Given the description of an element on the screen output the (x, y) to click on. 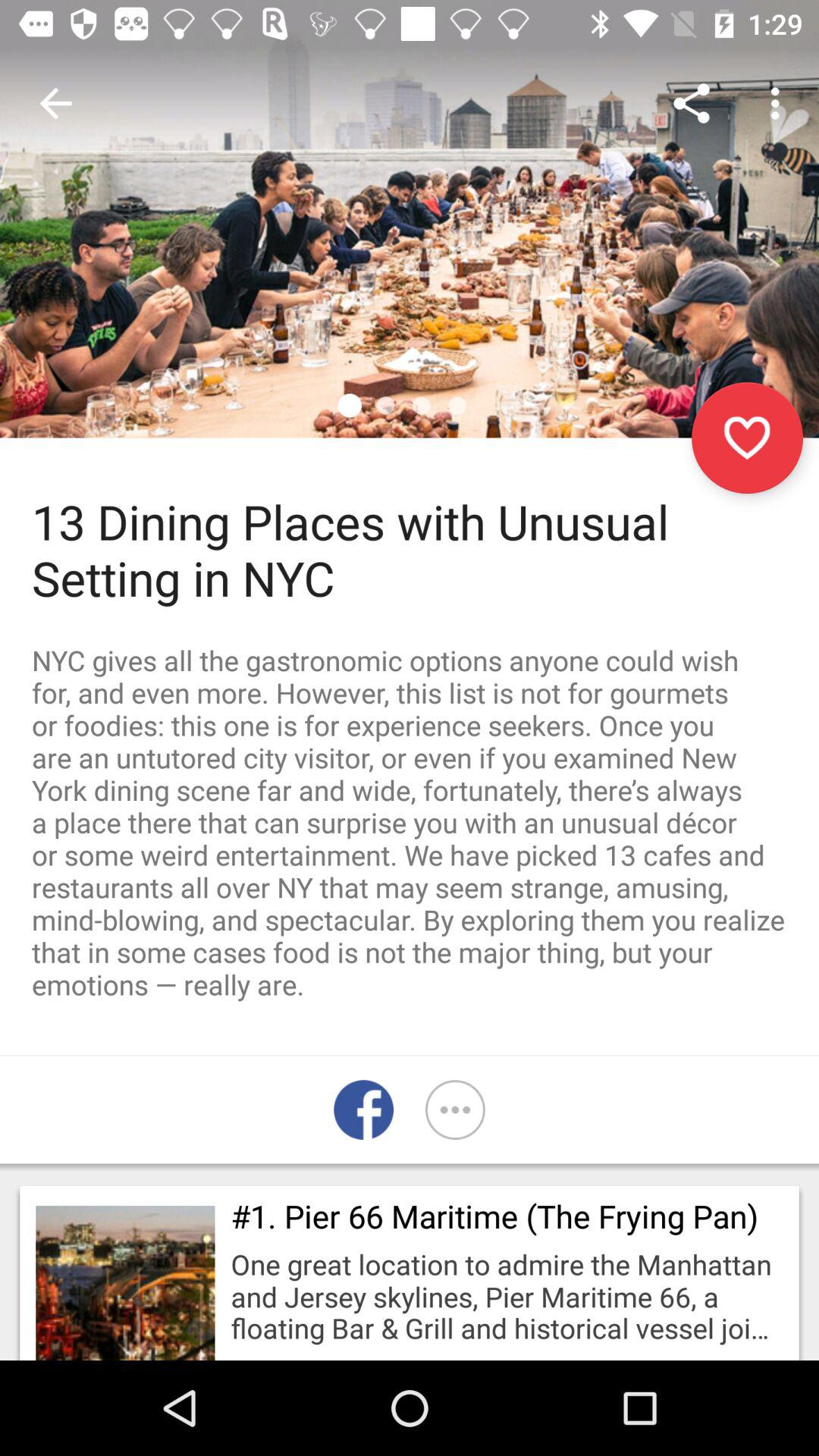
mark as favorite (747, 437)
